Given the description of an element on the screen output the (x, y) to click on. 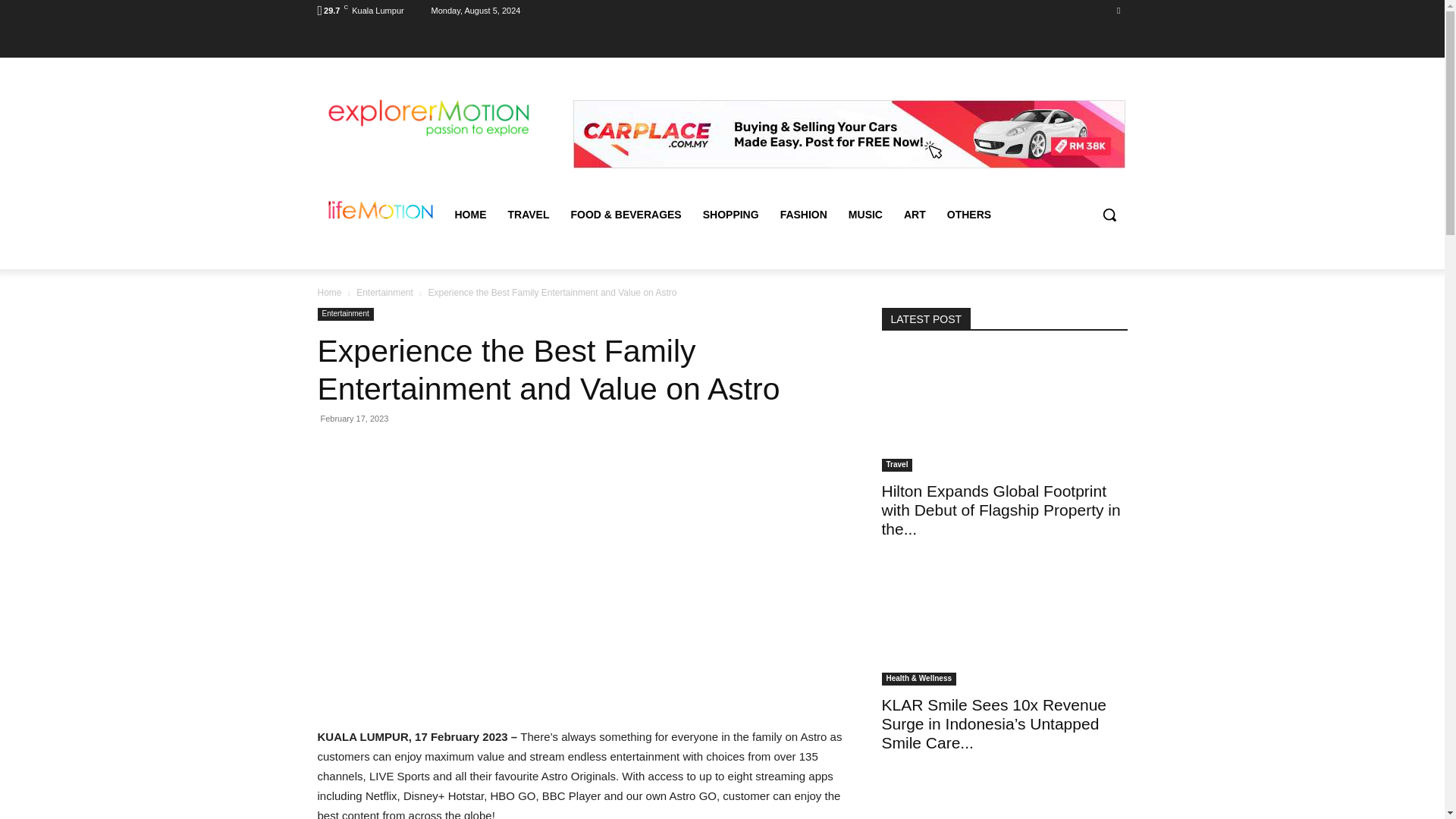
View all posts in Entertainment (384, 291)
Home (328, 291)
TRAVEL (528, 213)
Entertainment (384, 291)
Facebook (1117, 9)
SHOPPING (731, 213)
FASHION (804, 213)
MUSIC (865, 213)
OTHERS (968, 213)
Entertainment (344, 314)
HOME (470, 213)
ART (914, 213)
